Given the description of an element on the screen output the (x, y) to click on. 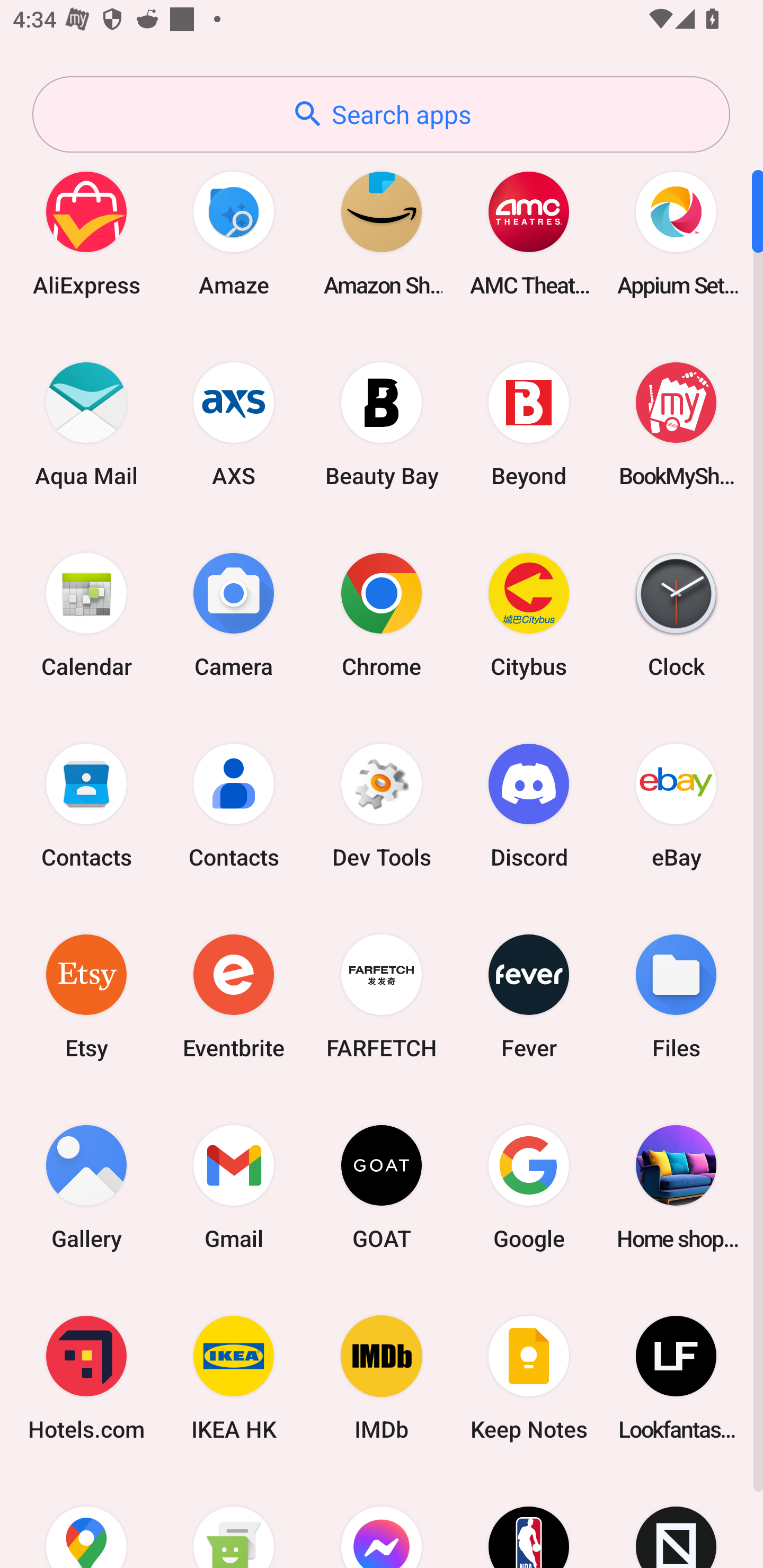
  Search apps (381, 114)
AliExpress (86, 233)
Amaze (233, 233)
Amazon Shopping (381, 233)
AMC Theatres (528, 233)
Appium Settings (676, 233)
Aqua Mail (86, 424)
AXS (233, 424)
Beauty Bay (381, 424)
Beyond (528, 424)
BookMyShow (676, 424)
Calendar (86, 614)
Camera (233, 614)
Chrome (381, 614)
Citybus (528, 614)
Clock (676, 614)
Contacts (86, 805)
Contacts (233, 805)
Dev Tools (381, 805)
Discord (528, 805)
eBay (676, 805)
Etsy (86, 996)
Eventbrite (233, 996)
FARFETCH (381, 996)
Fever (528, 996)
Files (676, 996)
Gallery (86, 1186)
Gmail (233, 1186)
GOAT (381, 1186)
Google (528, 1186)
Home shopping (676, 1186)
Hotels.com (86, 1377)
IKEA HK (233, 1377)
IMDb (381, 1377)
Keep Notes (528, 1377)
Lookfantastic (676, 1377)
